Given the description of an element on the screen output the (x, y) to click on. 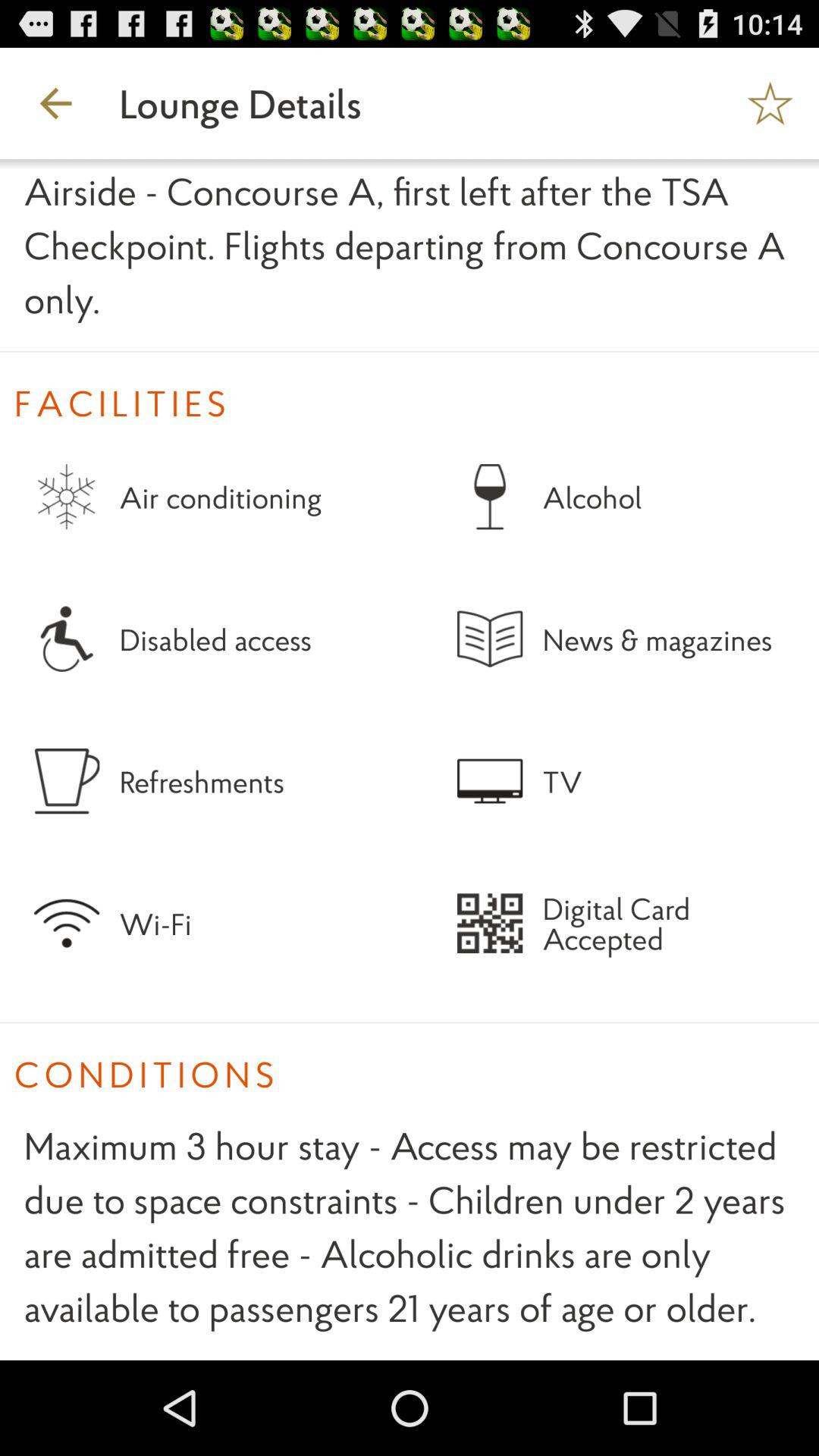
select the app next to lounge details app (55, 103)
